Given the description of an element on the screen output the (x, y) to click on. 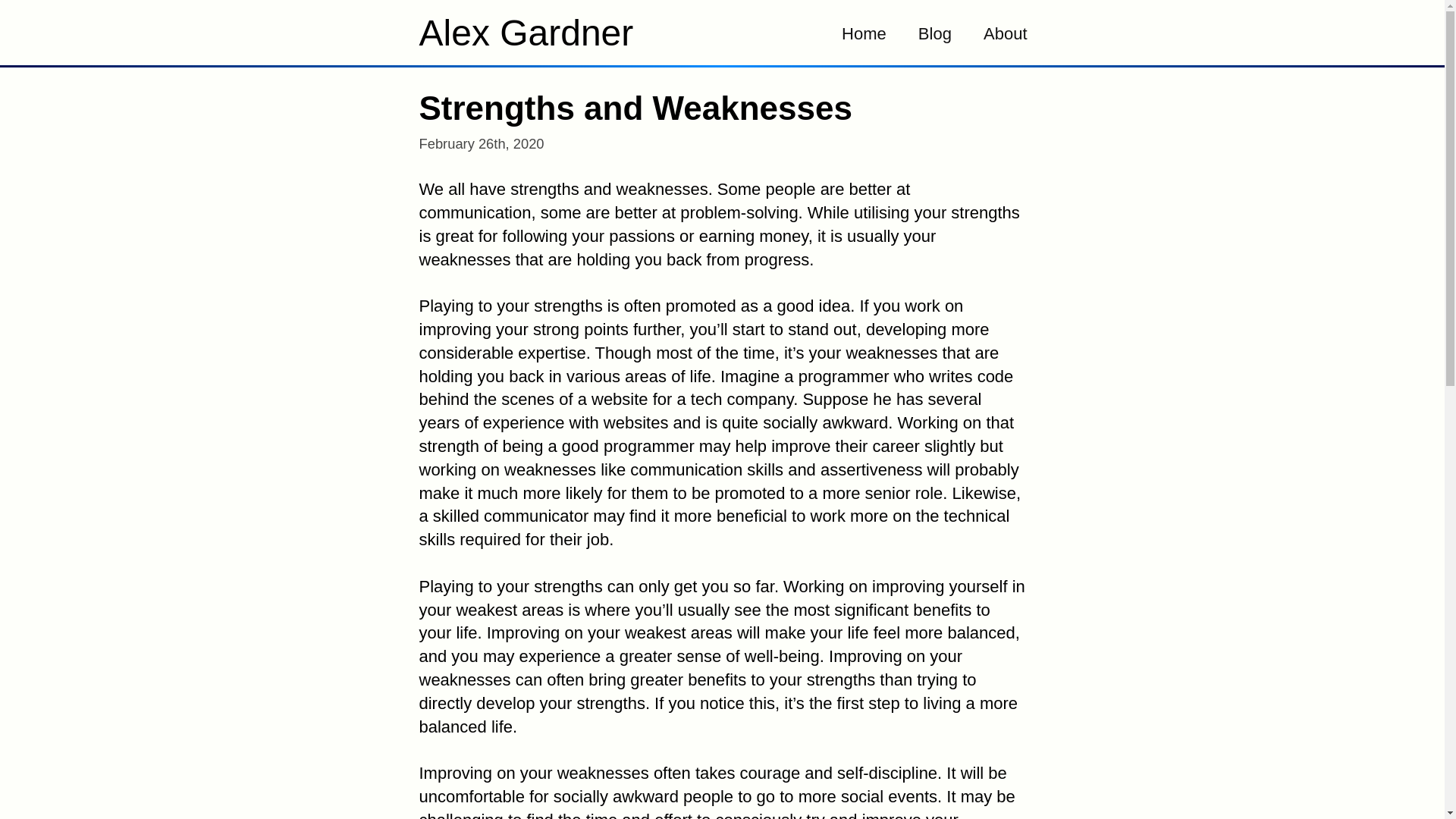
About (1004, 31)
Home (863, 31)
Blog (935, 31)
Alex Gardner (526, 39)
